Given the description of an element on the screen output the (x, y) to click on. 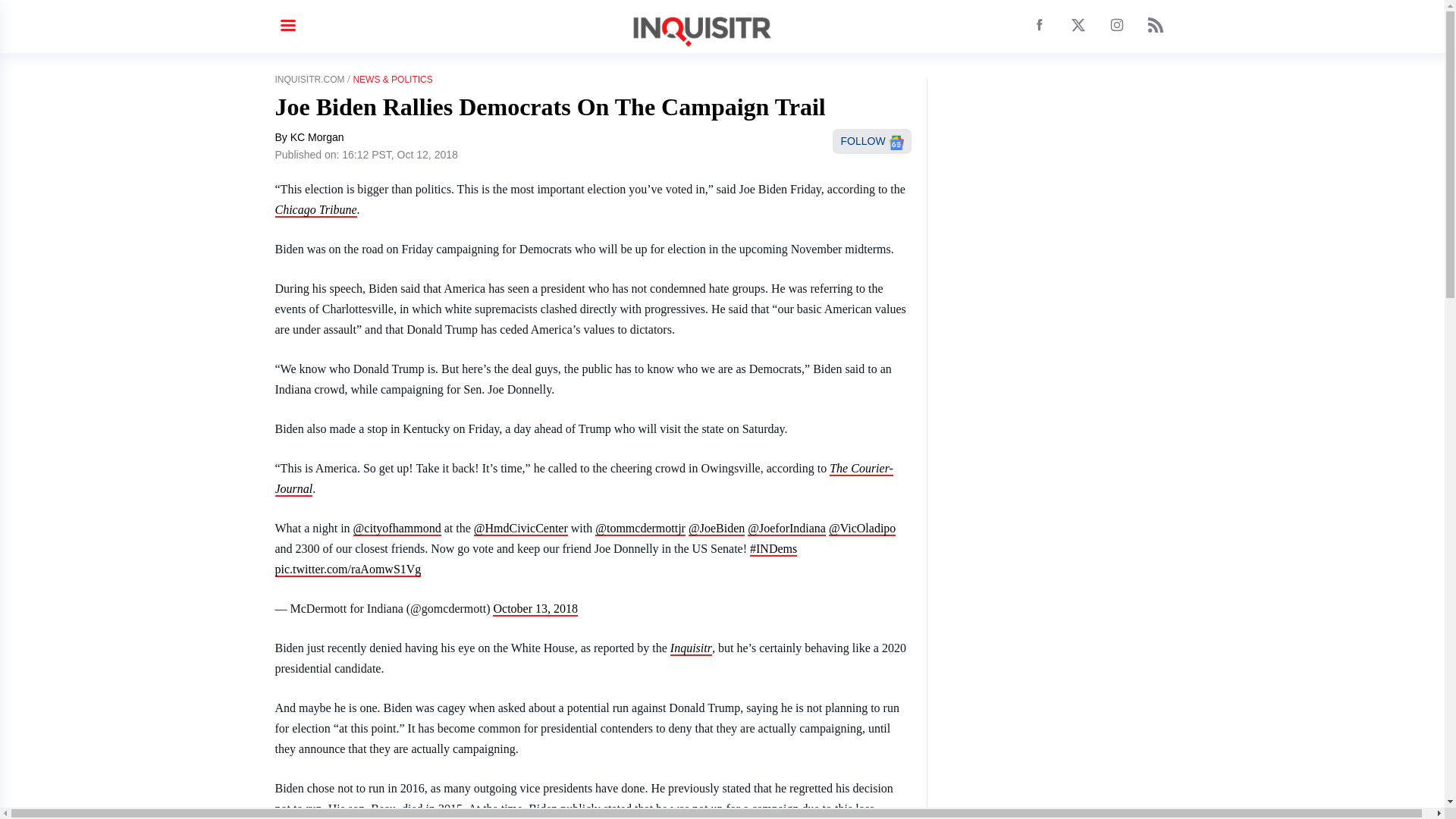
INQUISITR.COM (309, 79)
